Given the description of an element on the screen output the (x, y) to click on. 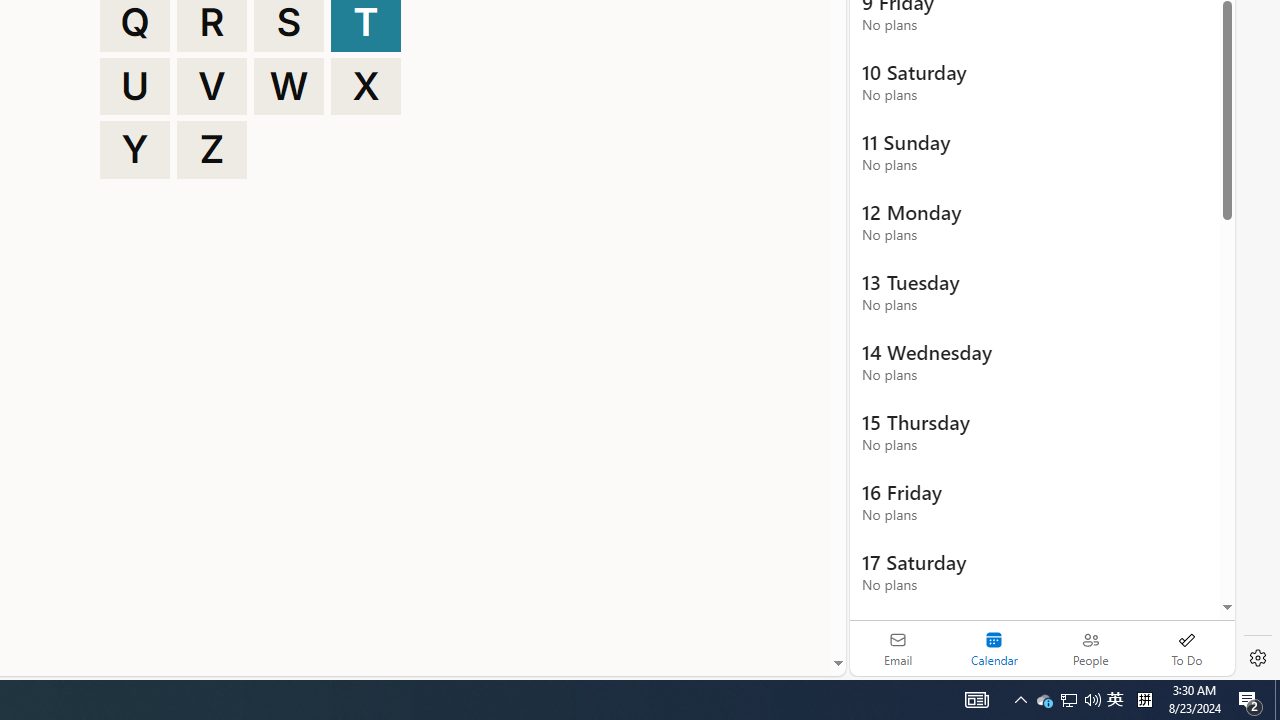
W (289, 85)
Email (898, 648)
U (134, 85)
Y (134, 149)
Selected calendar module. Date today is 22 (994, 648)
Y (134, 149)
To Do (1186, 648)
X (365, 85)
Z (212, 149)
People (1090, 648)
X (365, 85)
